Given the description of an element on the screen output the (x, y) to click on. 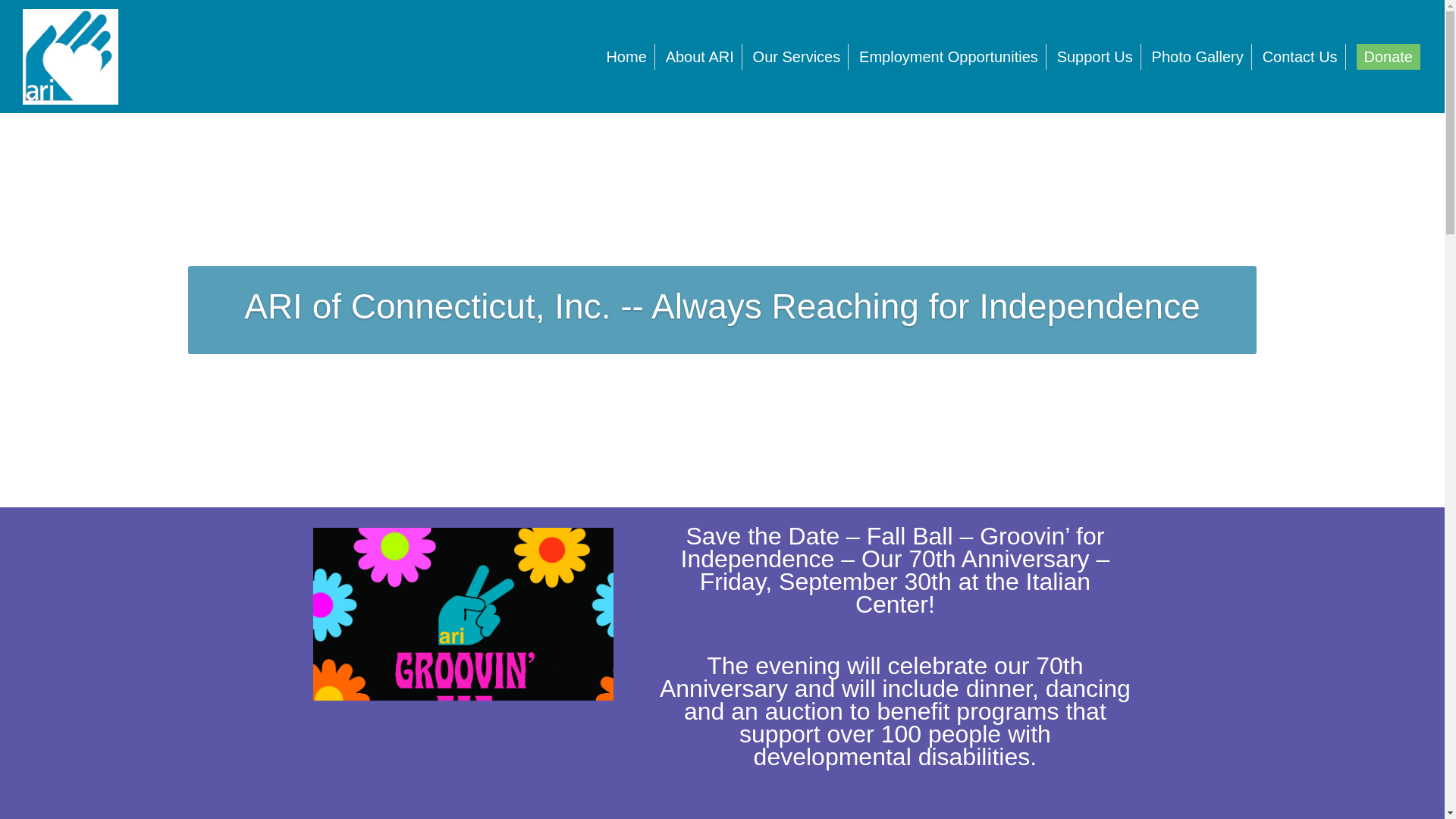
Our Services (796, 56)
FallBallLogo (462, 673)
Donate (1388, 56)
Home (625, 56)
Photo Gallery (1198, 56)
Support Us (1095, 56)
About ARI (700, 56)
Contact Us (1300, 56)
Employment Opportunities (948, 56)
